Given the description of an element on the screen output the (x, y) to click on. 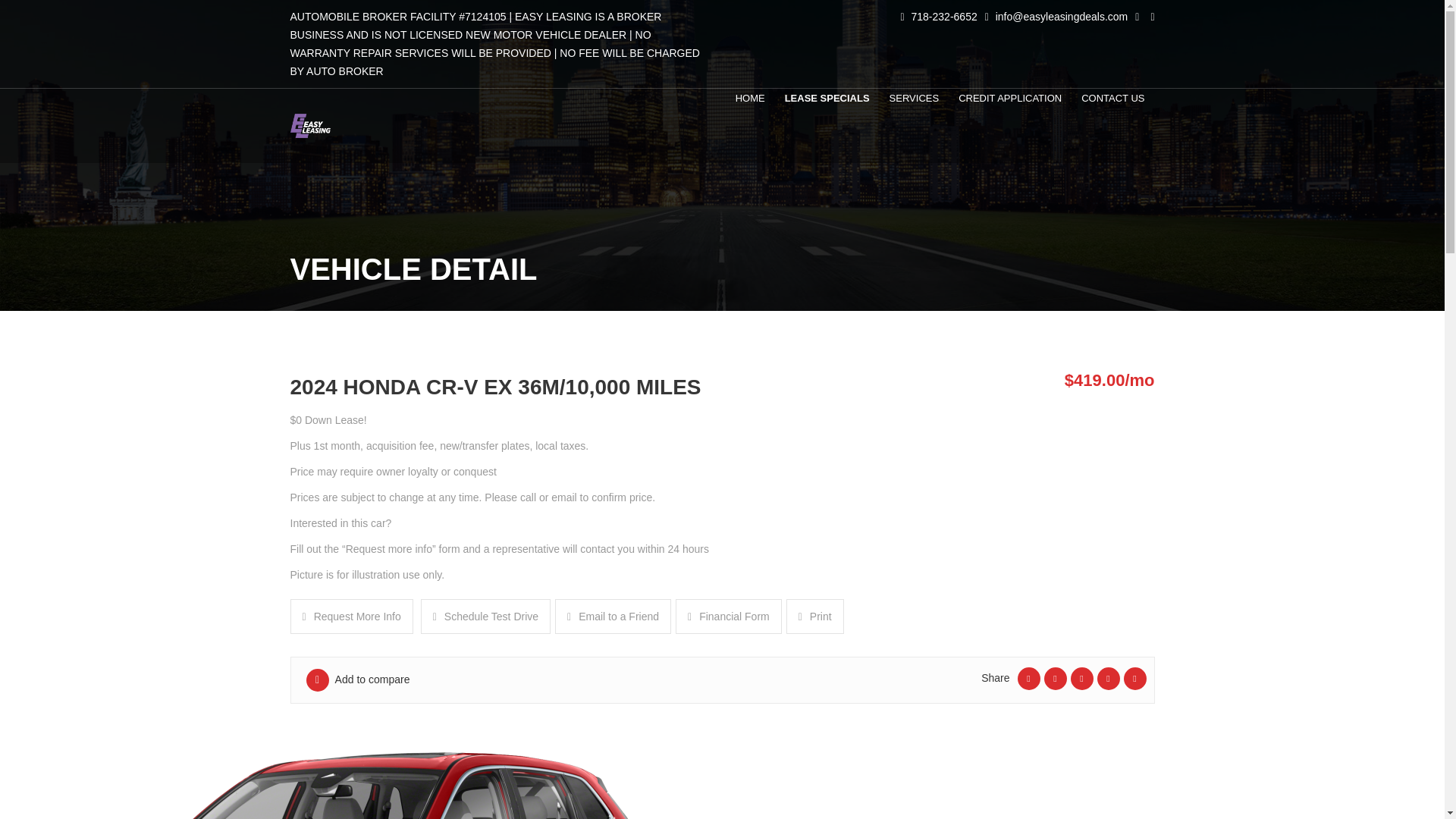
Email to a Friend (612, 615)
Request More Info (350, 615)
Add to compare (357, 679)
Schedule Test Drive (485, 615)
Financial Form (728, 615)
Print (815, 615)
